Given the description of an element on the screen output the (x, y) to click on. 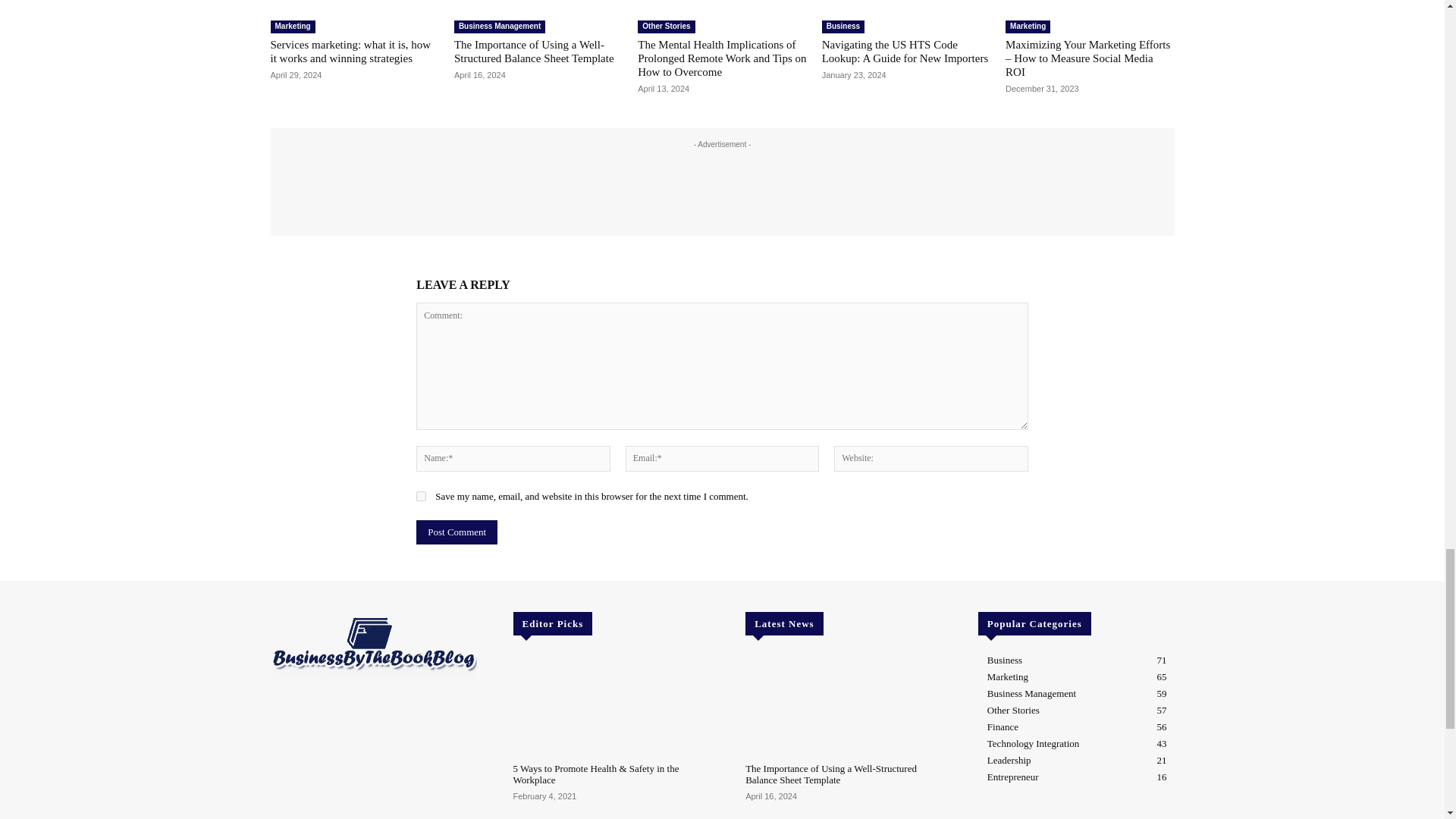
Post Comment (456, 532)
yes (421, 496)
